Given the description of an element on the screen output the (x, y) to click on. 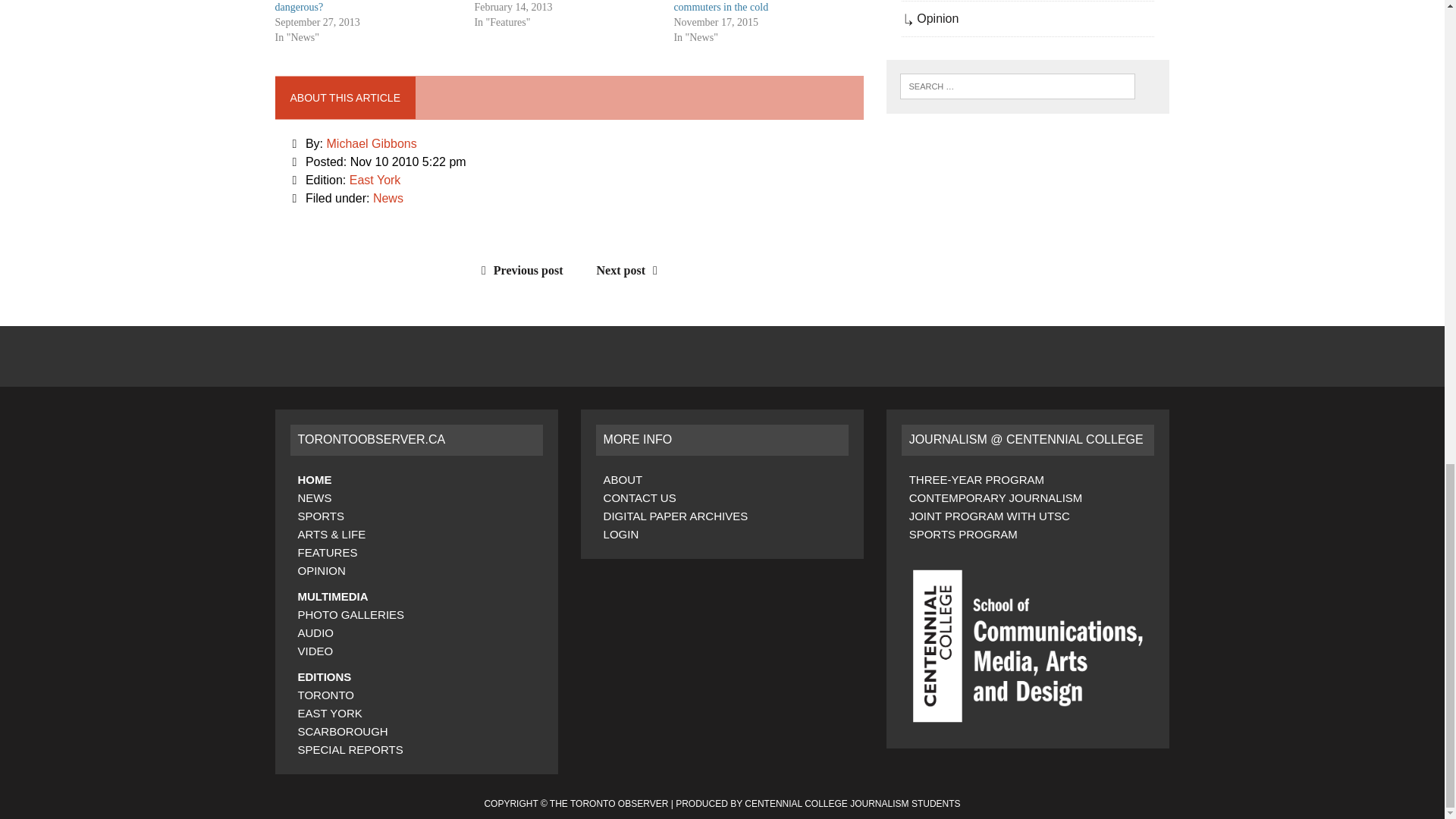
Coxwell station improvements leave commuters in the cold (750, 6)
Michael Gibbons (371, 143)
Snakes in Scarborough: Are they dangerous? (344, 6)
Sports (320, 515)
News (314, 497)
Home (314, 479)
